Given the description of an element on the screen output the (x, y) to click on. 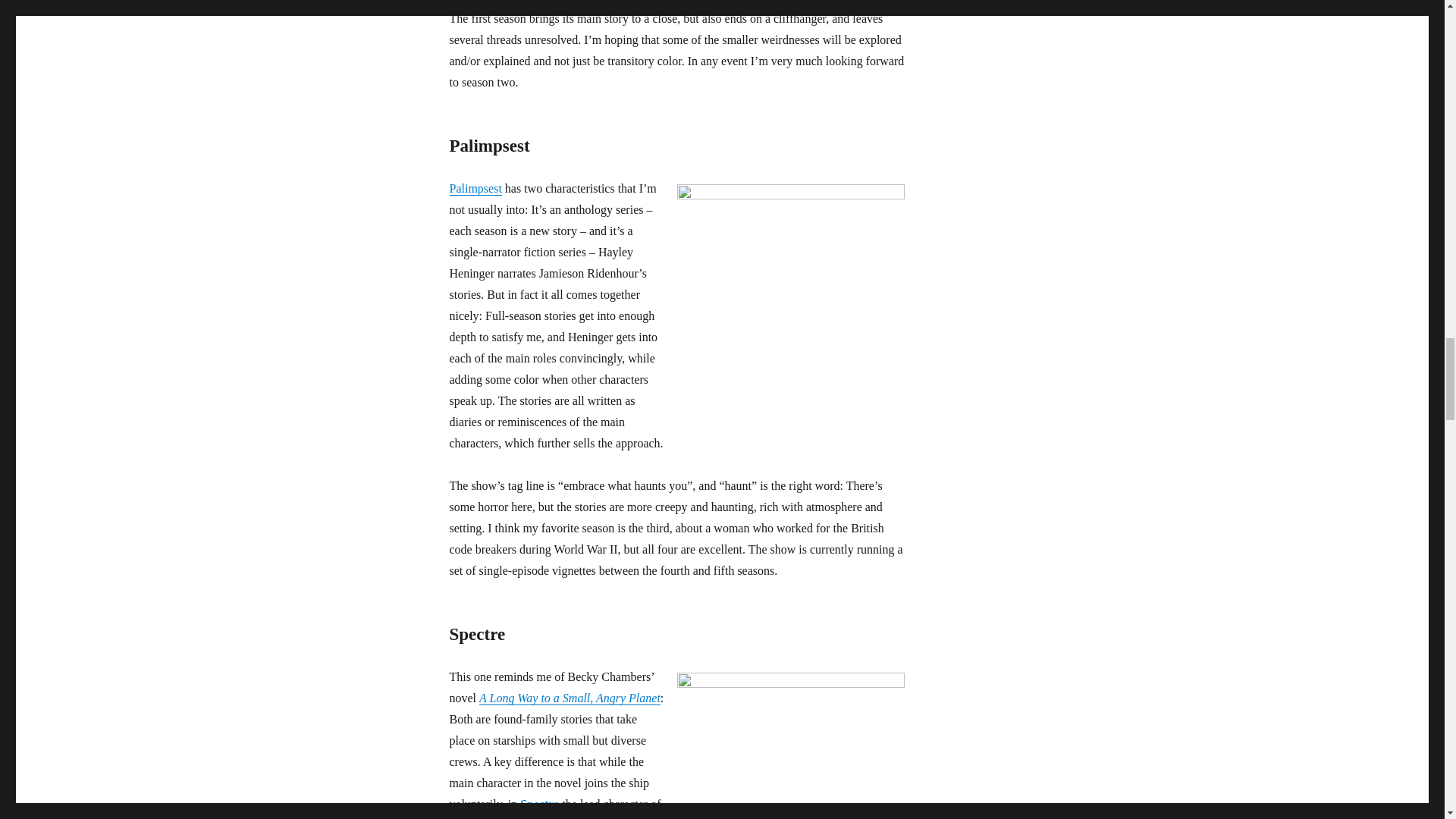
Palimpsest (474, 187)
A Long Way to a Small, Angry Planet (570, 697)
Spectre (539, 803)
